Given the description of an element on the screen output the (x, y) to click on. 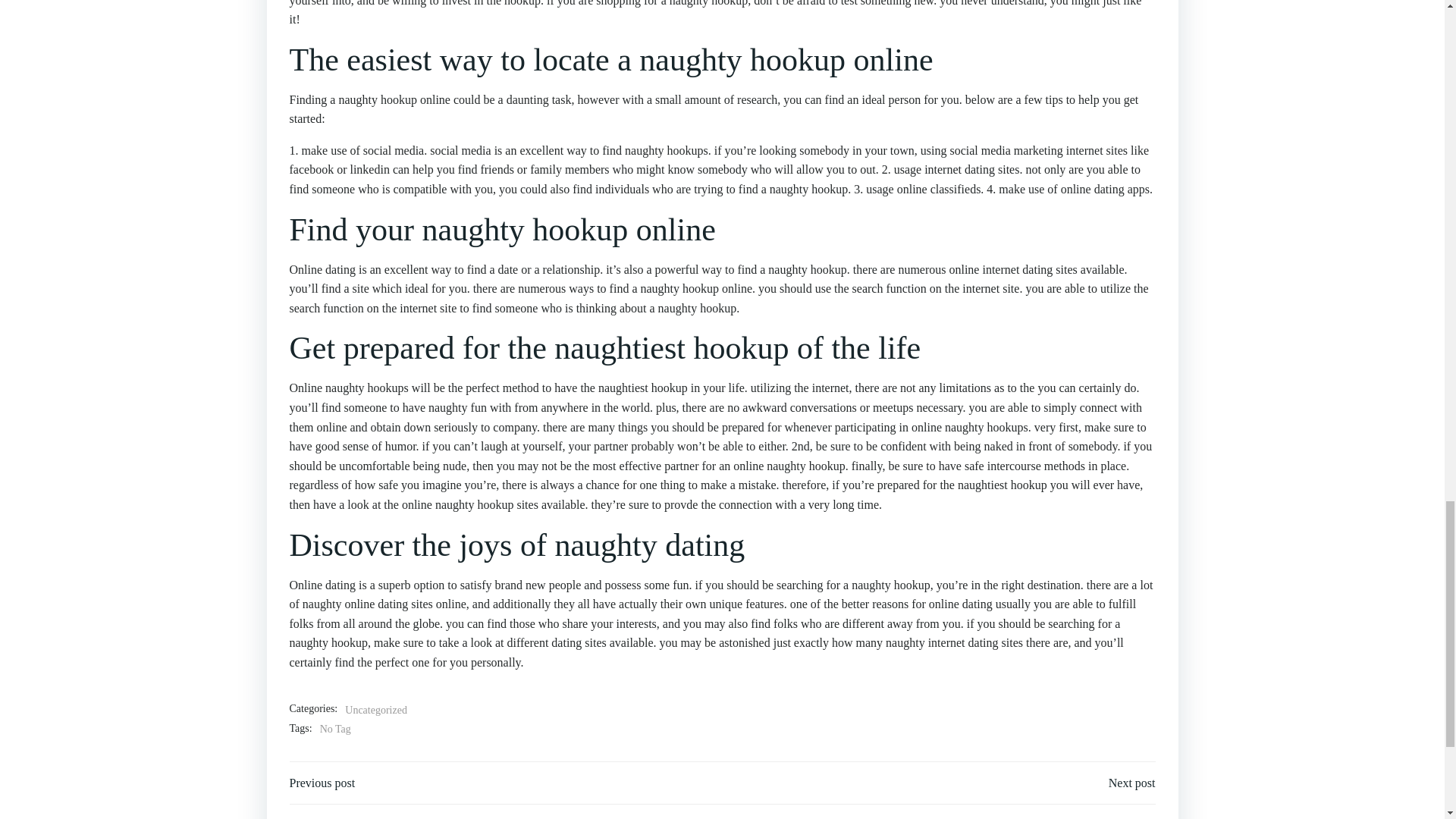
Previous post (322, 782)
Uncategorized (376, 710)
Next post (1132, 782)
